Given the description of an element on the screen output the (x, y) to click on. 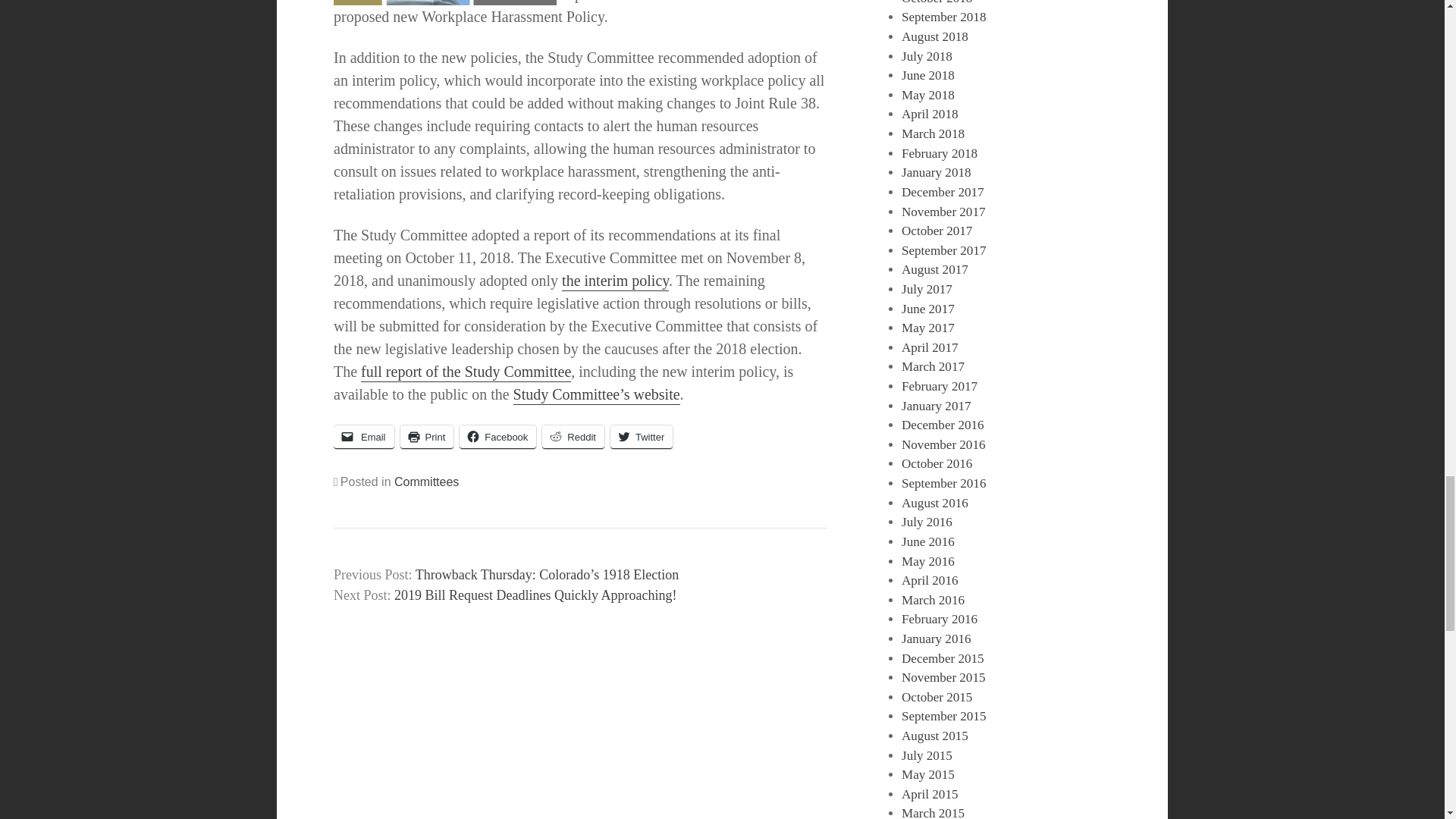
Click to share on Reddit (572, 436)
Click to share on Twitter (641, 436)
the interim policy (615, 281)
Print (427, 436)
full report of the Study Committee (465, 372)
Click to print (427, 436)
Click to email a link to a friend (363, 436)
Committees (426, 481)
Reddit (572, 436)
Twitter (641, 436)
